Given the description of an element on the screen output the (x, y) to click on. 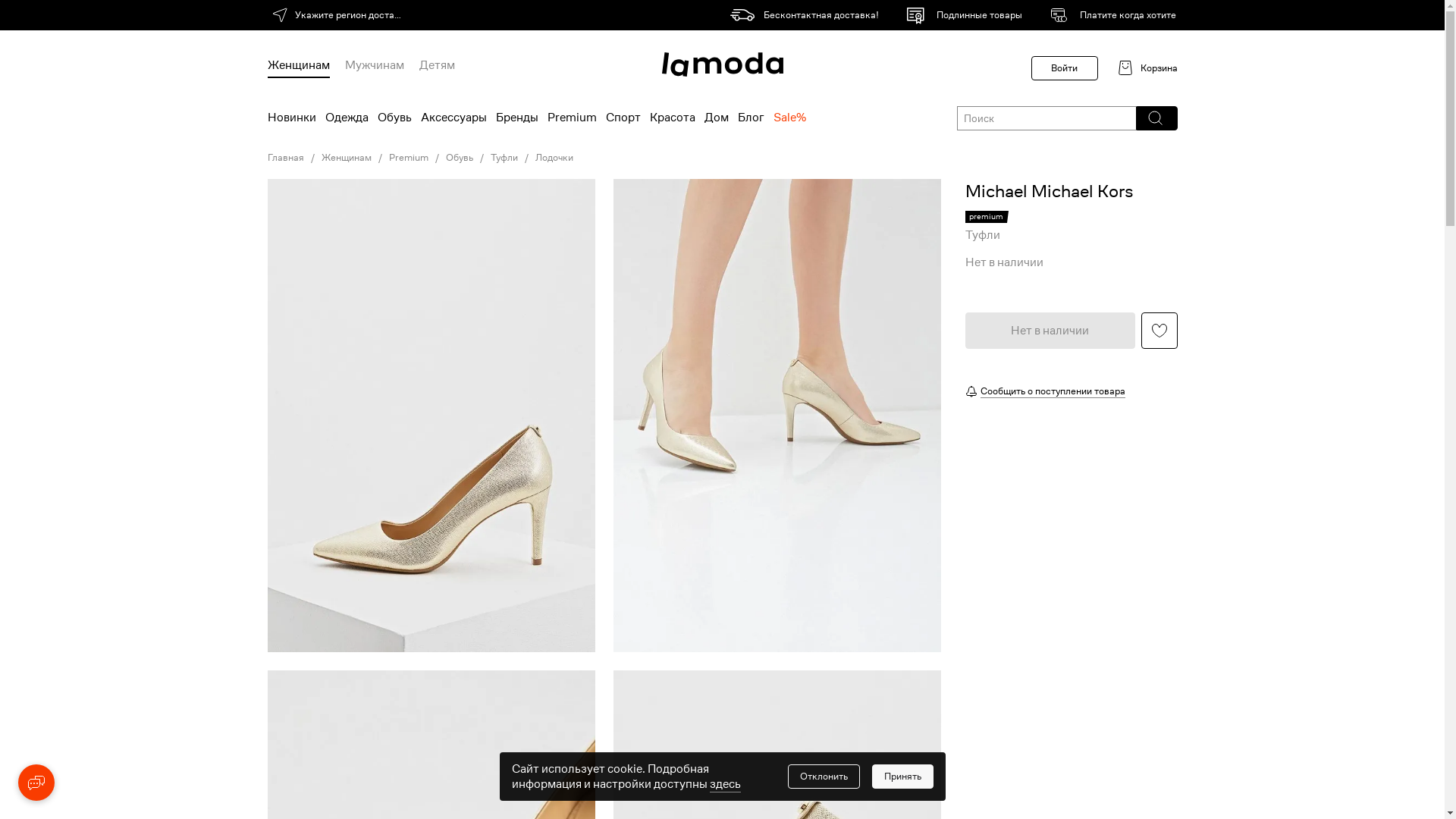
Premium Element type: text (407, 157)
Michael Michael Kors
premium Element type: text (1048, 202)
Sale% Element type: text (789, 117)
Premium Element type: text (571, 117)
